Given the description of an element on the screen output the (x, y) to click on. 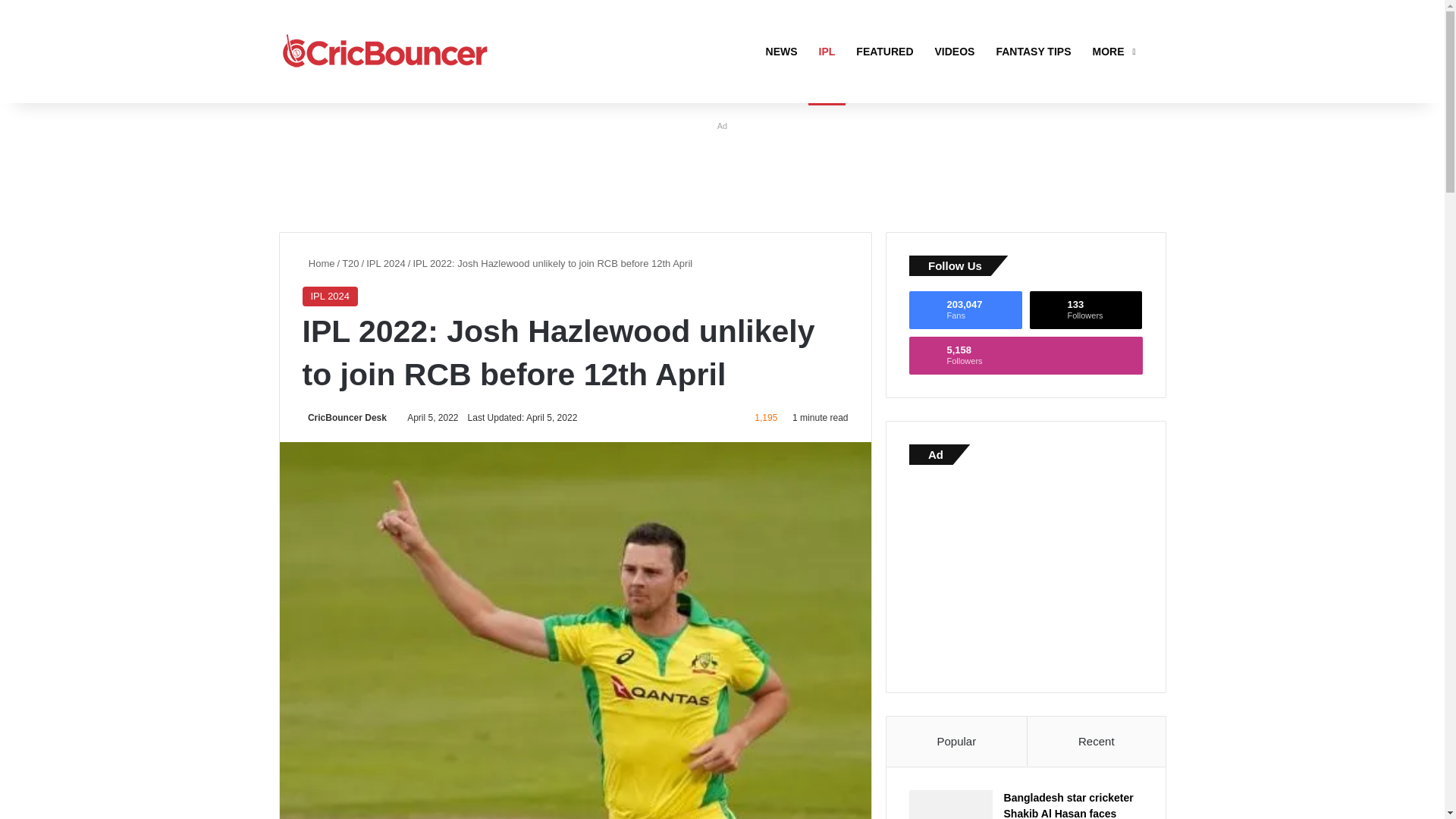
IPL 2024 (386, 263)
Advertisement (1025, 574)
CricBouncer (385, 51)
Recent (1095, 741)
CricBouncer Desk (1085, 310)
FANTASY TIPS (343, 417)
Home (1033, 51)
CricBouncer Desk (317, 263)
